Given the description of an element on the screen output the (x, y) to click on. 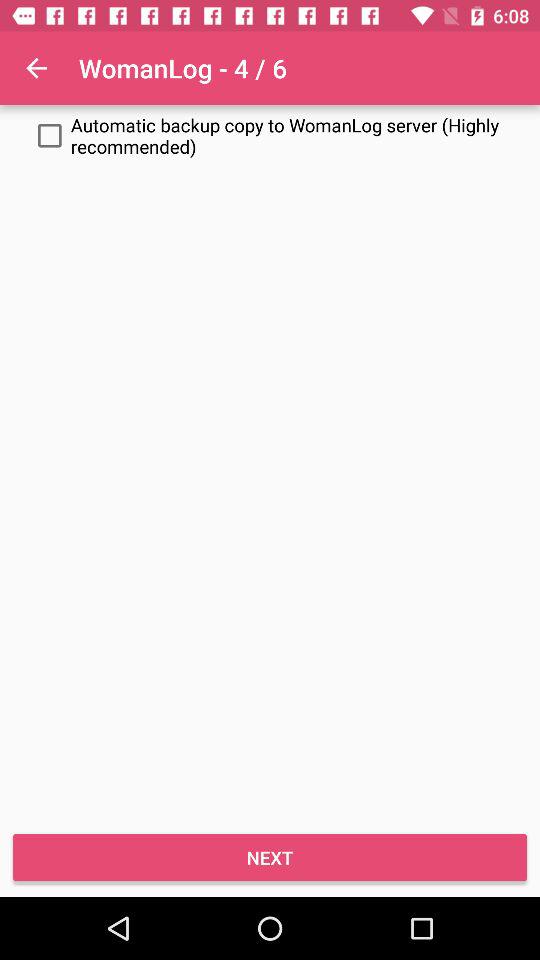
tap icon above automatic backup copy (36, 68)
